Given the description of an element on the screen output the (x, y) to click on. 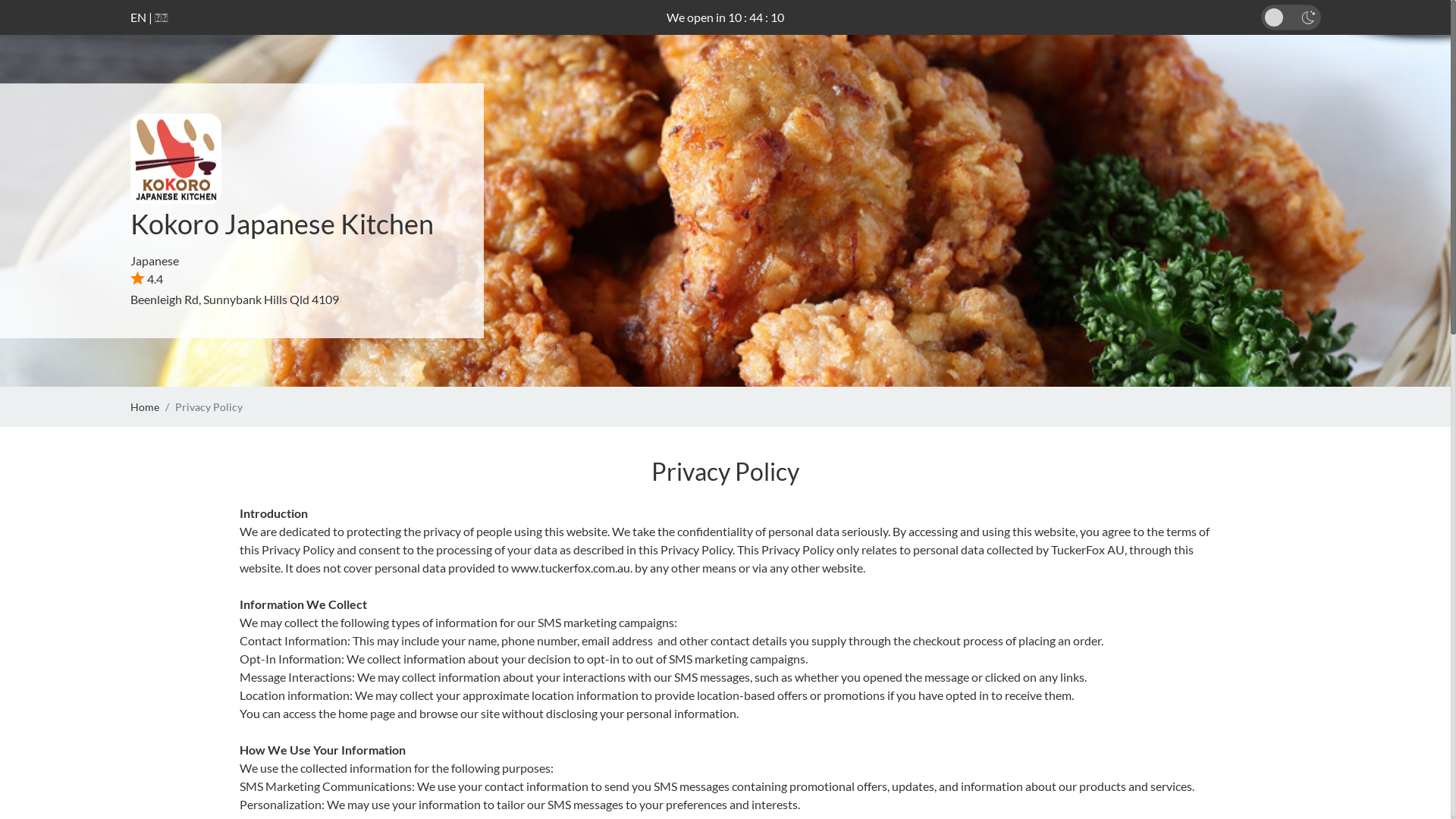
Home Element type: text (144, 406)
EN Element type: text (138, 16)
Kokoro Japanese Kitchen Element type: text (281, 223)
4.4 Element type: text (146, 278)
